Given the description of an element on the screen output the (x, y) to click on. 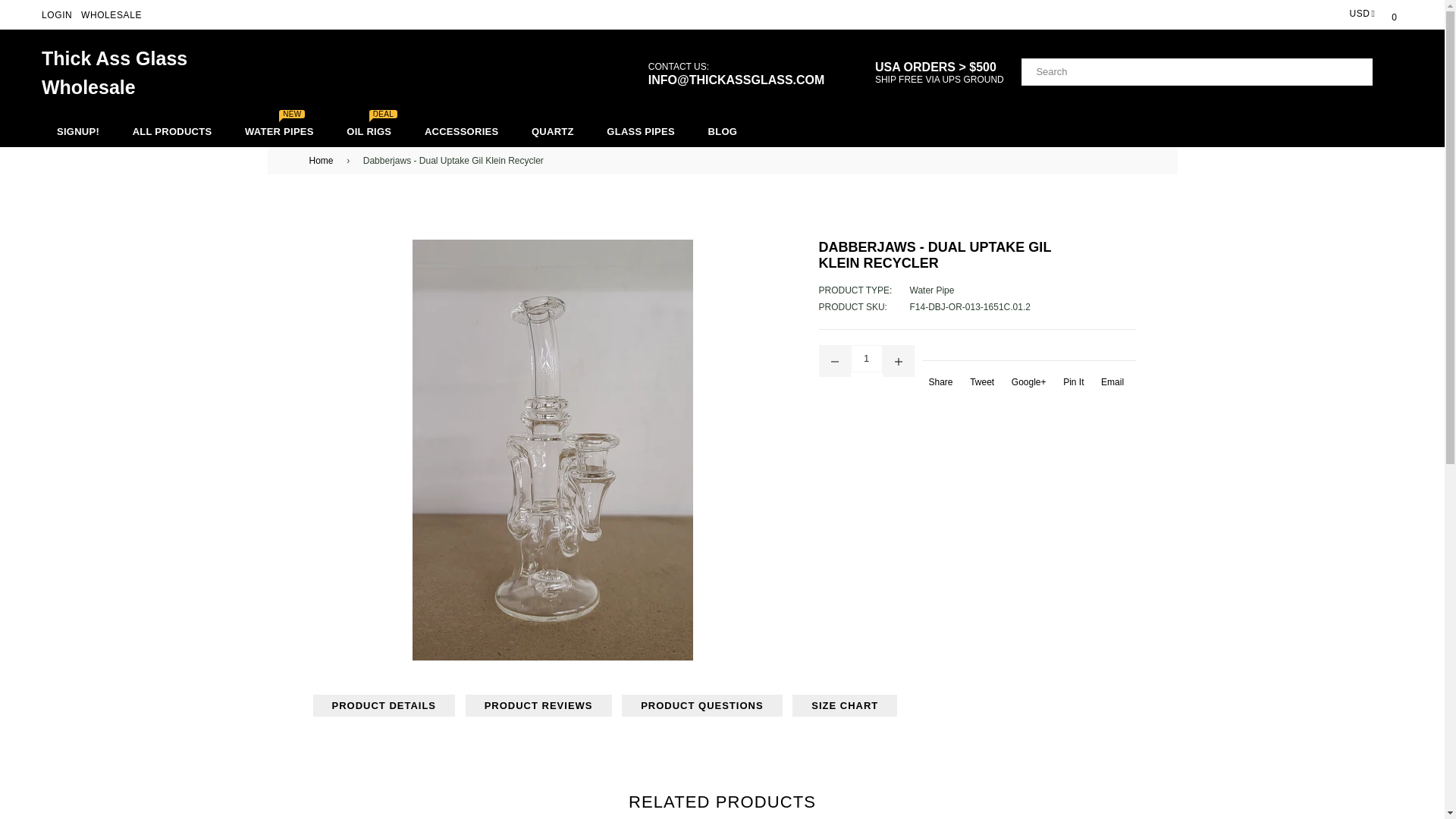
WHOLESALE (111, 14)
Tweet on Twitter (979, 386)
Pin on Pinterest (1072, 386)
Back to the home page (323, 160)
SIGNUP! (78, 132)
Quantity (866, 360)
LOGIN (56, 14)
SUBMIT (1388, 72)
0 (1393, 14)
Share by Email (1110, 386)
Thick Ass Glass Wholesale (279, 132)
Cart (114, 72)
1 (1393, 14)
ALL PRODUCTS (866, 358)
